Given the description of an element on the screen output the (x, y) to click on. 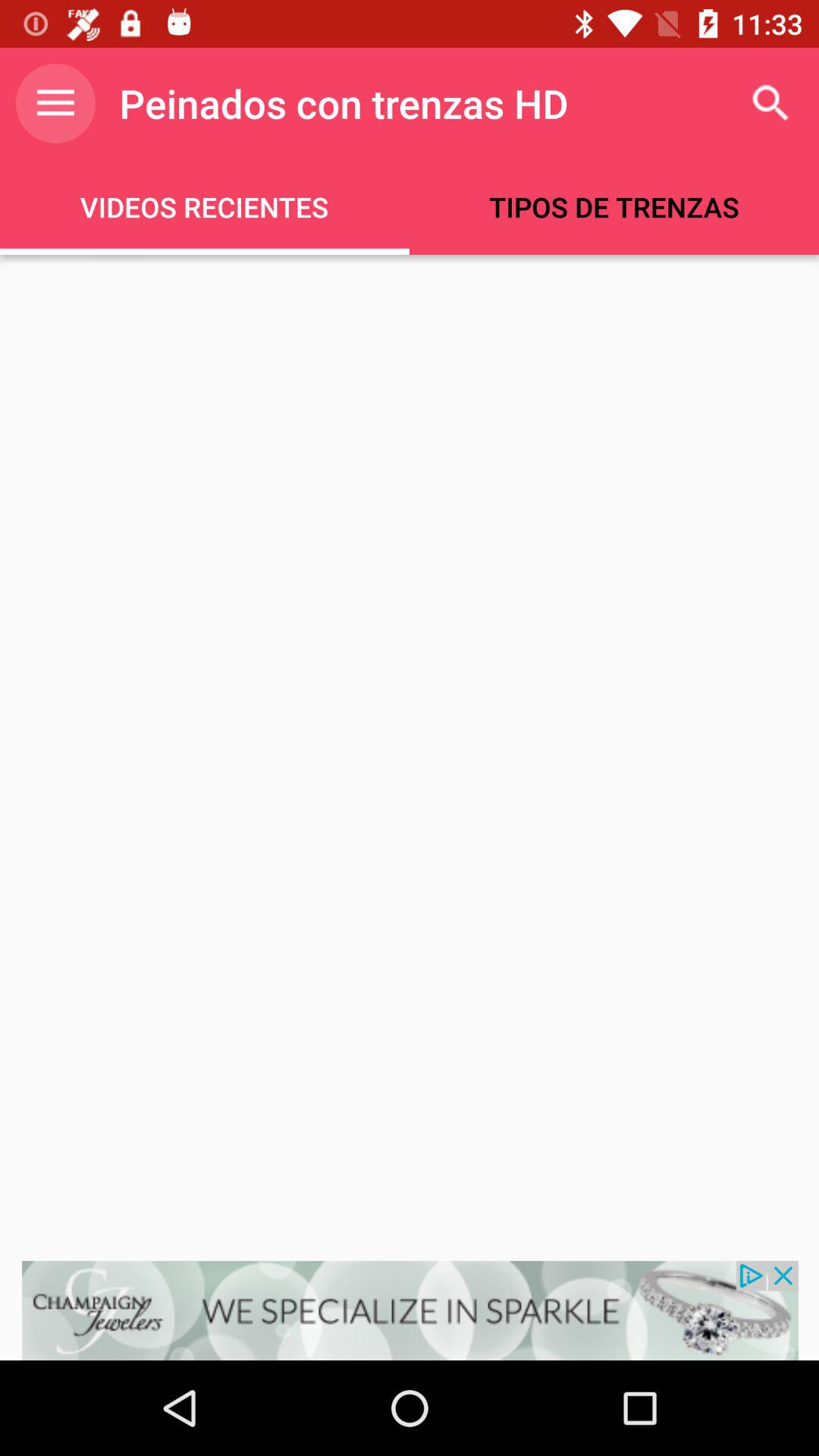
add option (409, 1310)
